Given the description of an element on the screen output the (x, y) to click on. 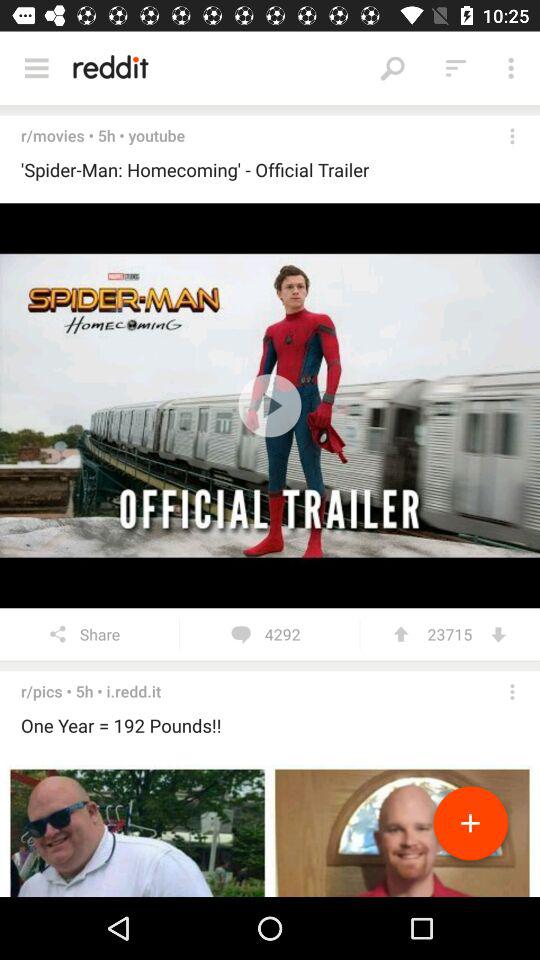
get more info (512, 691)
